Given the description of an element on the screen output the (x, y) to click on. 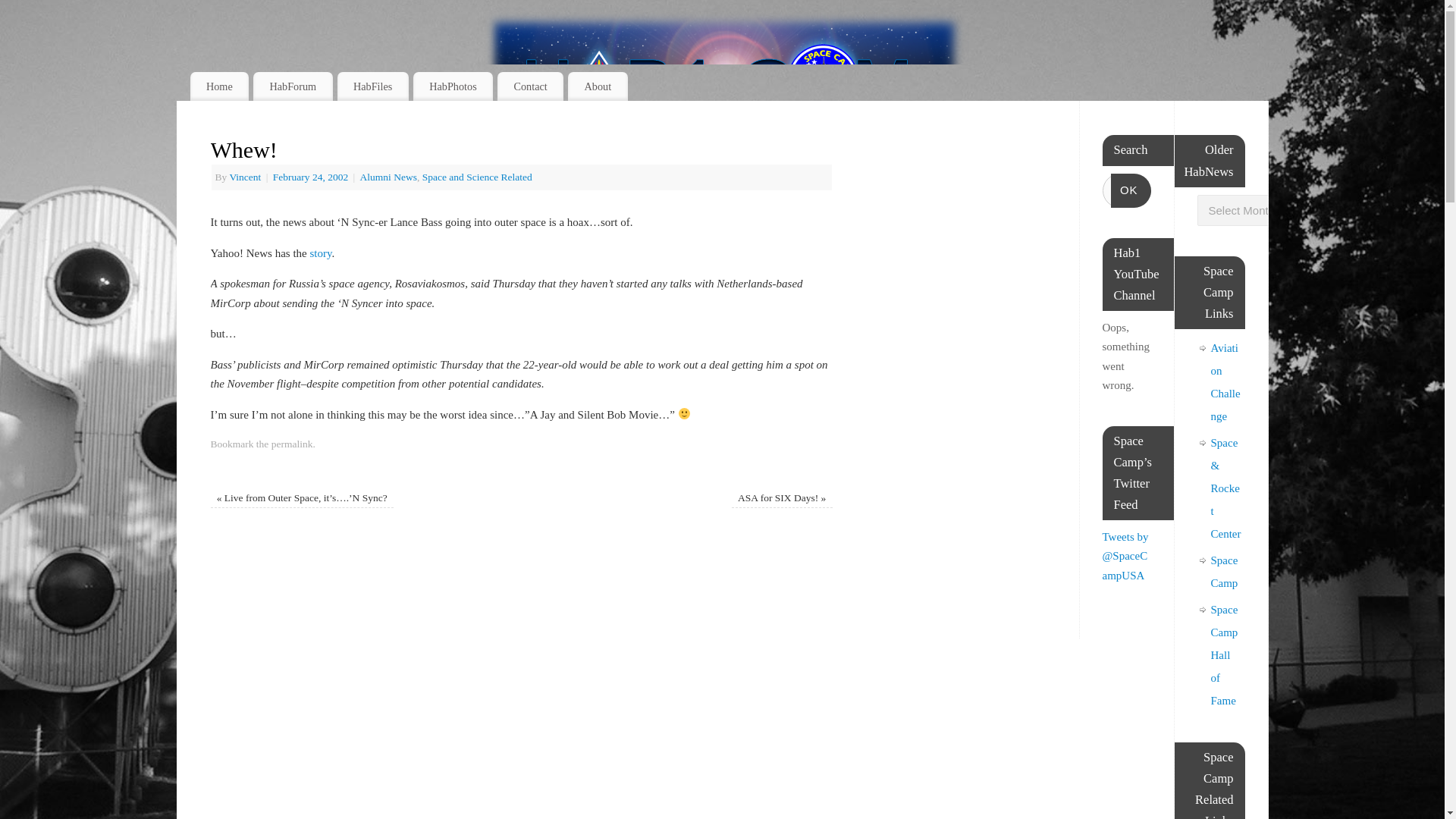
Space and Science Related (477, 176)
Contact (530, 86)
permalink (291, 443)
HabForum (293, 86)
About (597, 86)
February 24, 2002 (311, 176)
Go to the HabForum (293, 86)
Home (218, 86)
Permalink to Whew! (291, 443)
Alumni News (387, 176)
View all posts by Vincent (244, 176)
Vincent (244, 176)
HabFiles (373, 86)
story (319, 253)
12:24 am (311, 176)
